Given the description of an element on the screen output the (x, y) to click on. 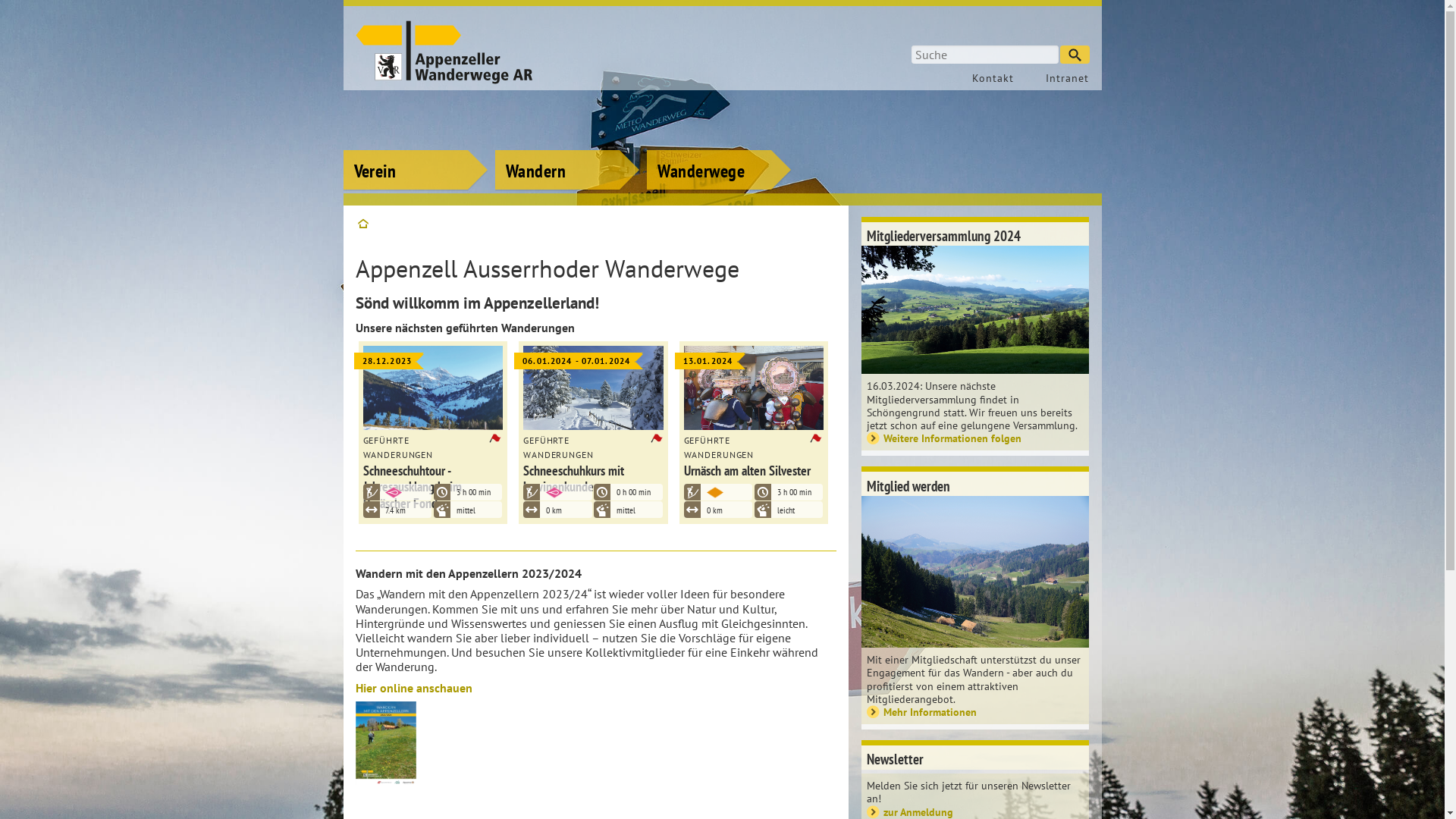
Mitgliederversammlung 2024 Element type: text (974, 234)
zur Anmeldung Element type: text (974, 811)
Mehr Informationen Element type: text (974, 711)
Kontakt Element type: text (988, 77)
Wandern Element type: text (567, 147)
Verein Element type: text (414, 147)
Mitglied werden Element type: text (974, 483)
Suchen Element type: text (1074, 54)
Schwierigkeitsgrad Element type: hover (533, 491)
Schwierigkeitsgrad Element type: hover (694, 491)
Weitere Informationen folgen Element type: text (974, 437)
Wanderwege Element type: text (718, 147)
Hier online anschauen Element type: text (412, 687)
Intranet Element type: text (1058, 77)
Newsletter Element type: text (974, 757)
Schwierigkeitsgrad Element type: hover (372, 491)
